Given the description of an element on the screen output the (x, y) to click on. 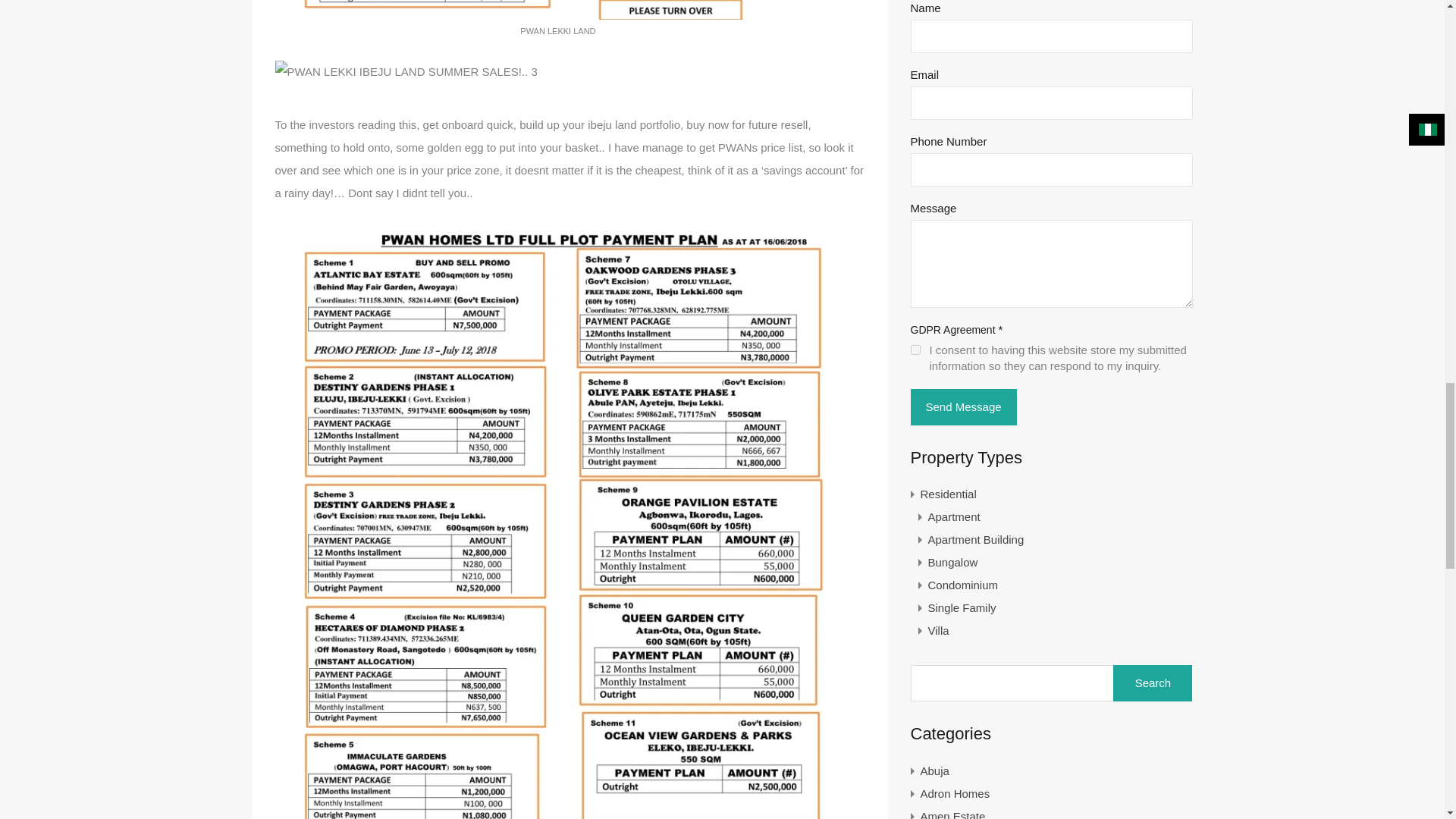
Search (1152, 683)
PWAN LEKKI IBEJU LAND SUMMER SALES!.. 3 (557, 9)
PWAN LEKKI IBEJU LAND SUMMER SALES!.. 4 (406, 71)
Send Message (963, 407)
